Given the description of an element on the screen output the (x, y) to click on. 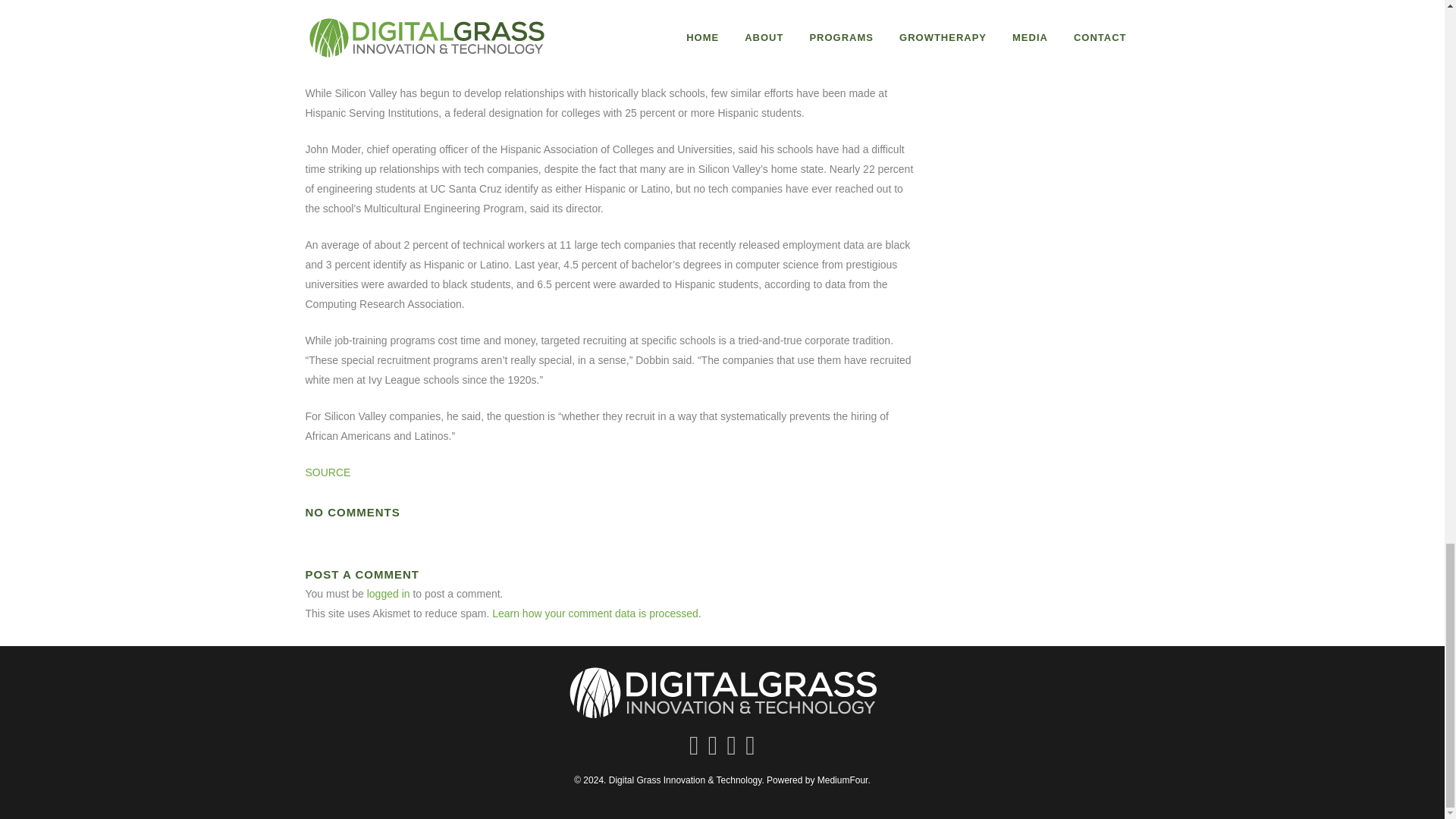
Learn how your comment data is processed (595, 613)
SOURCE (327, 472)
logged in (388, 593)
